Given the description of an element on the screen output the (x, y) to click on. 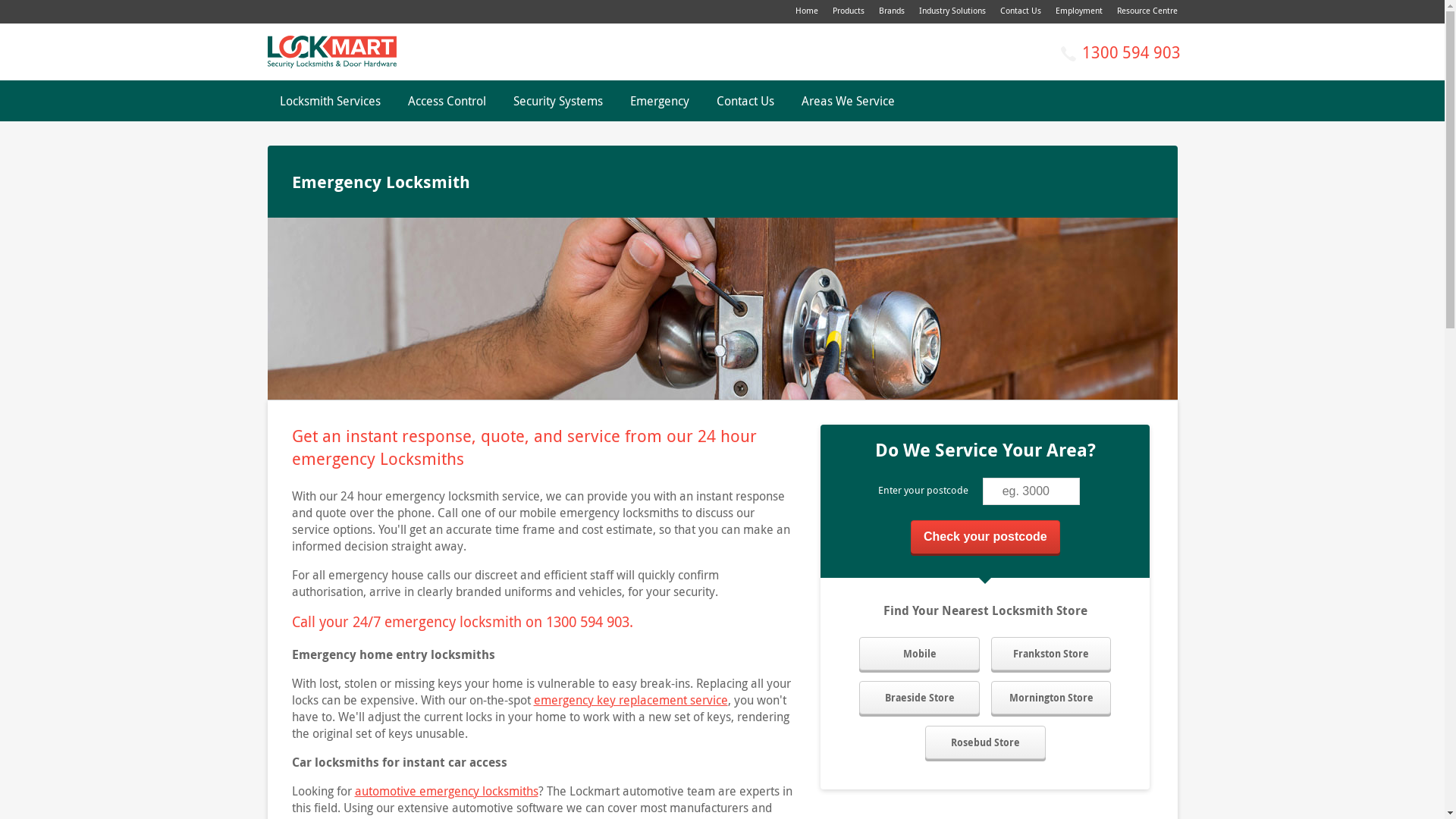
Access Control Element type: text (446, 100)
Contact Us Element type: text (744, 100)
Emergency Element type: text (658, 100)
Security Systems Element type: text (557, 100)
emergency key replacement service Element type: text (630, 699)
Rosebud Store Element type: text (985, 742)
Industry Solutions Element type: text (952, 9)
Locksmith Services Element type: text (329, 100)
Resource Centre Element type: text (1146, 9)
Home Element type: text (805, 9)
Mobile Element type: text (919, 653)
Areas We Service Element type: text (847, 100)
Mornington Store Element type: text (1051, 697)
1300 594 903 Element type: text (587, 621)
Products Element type: text (848, 9)
Frankston Store Element type: text (1051, 653)
Braeside Store Element type: text (919, 697)
1300 594 903 Element type: text (1130, 51)
Contact Us Element type: text (1019, 9)
Brands Element type: text (890, 9)
Employment Element type: text (1078, 9)
automotive emergency locksmiths Element type: text (446, 790)
Check your postcode Element type: text (985, 536)
